Given the description of an element on the screen output the (x, y) to click on. 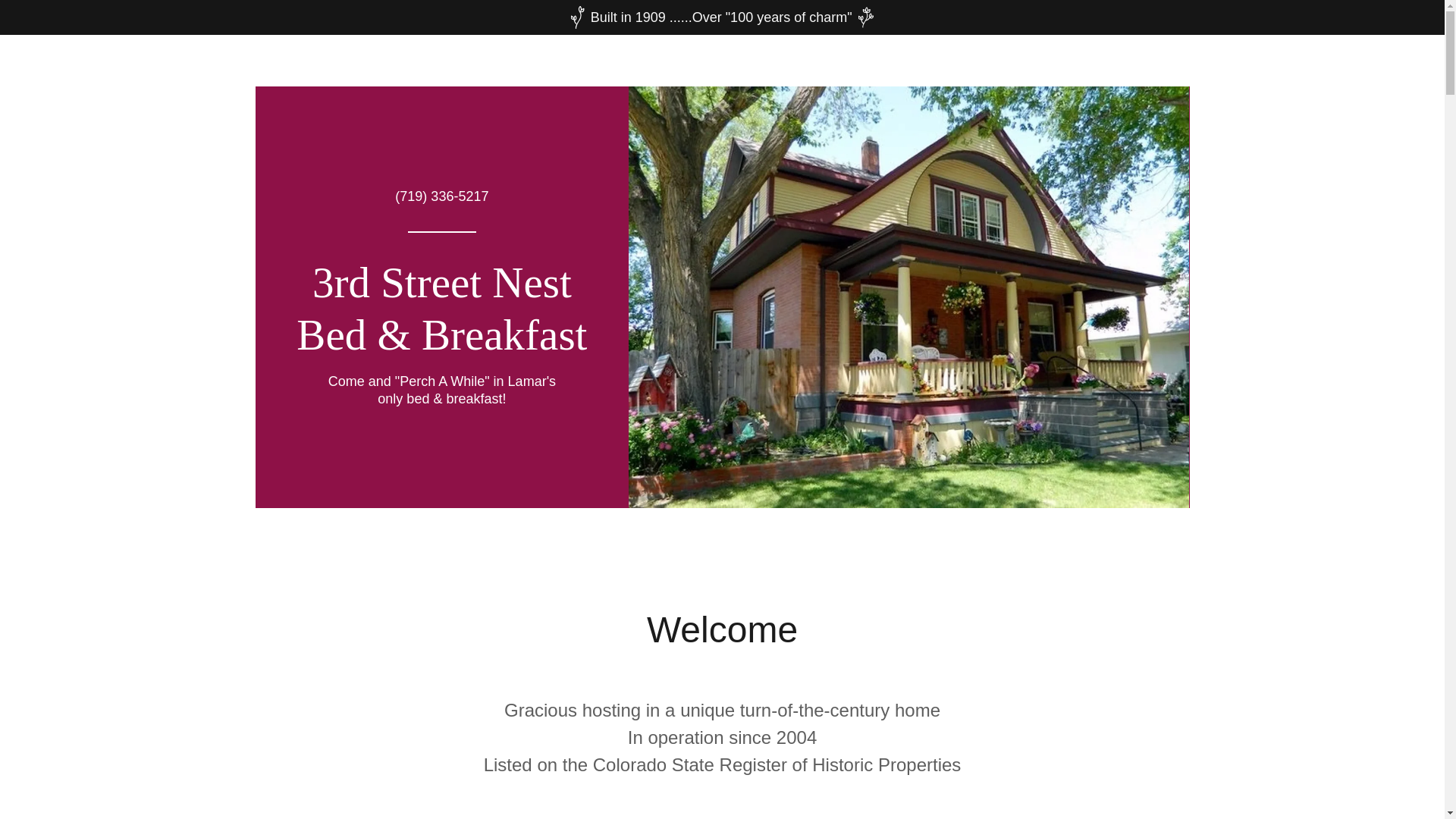
3rd Street Nest Bed & Breakfast Element type: text (441, 344)
(719) 336-5217 Element type: text (441, 195)
